Given the description of an element on the screen output the (x, y) to click on. 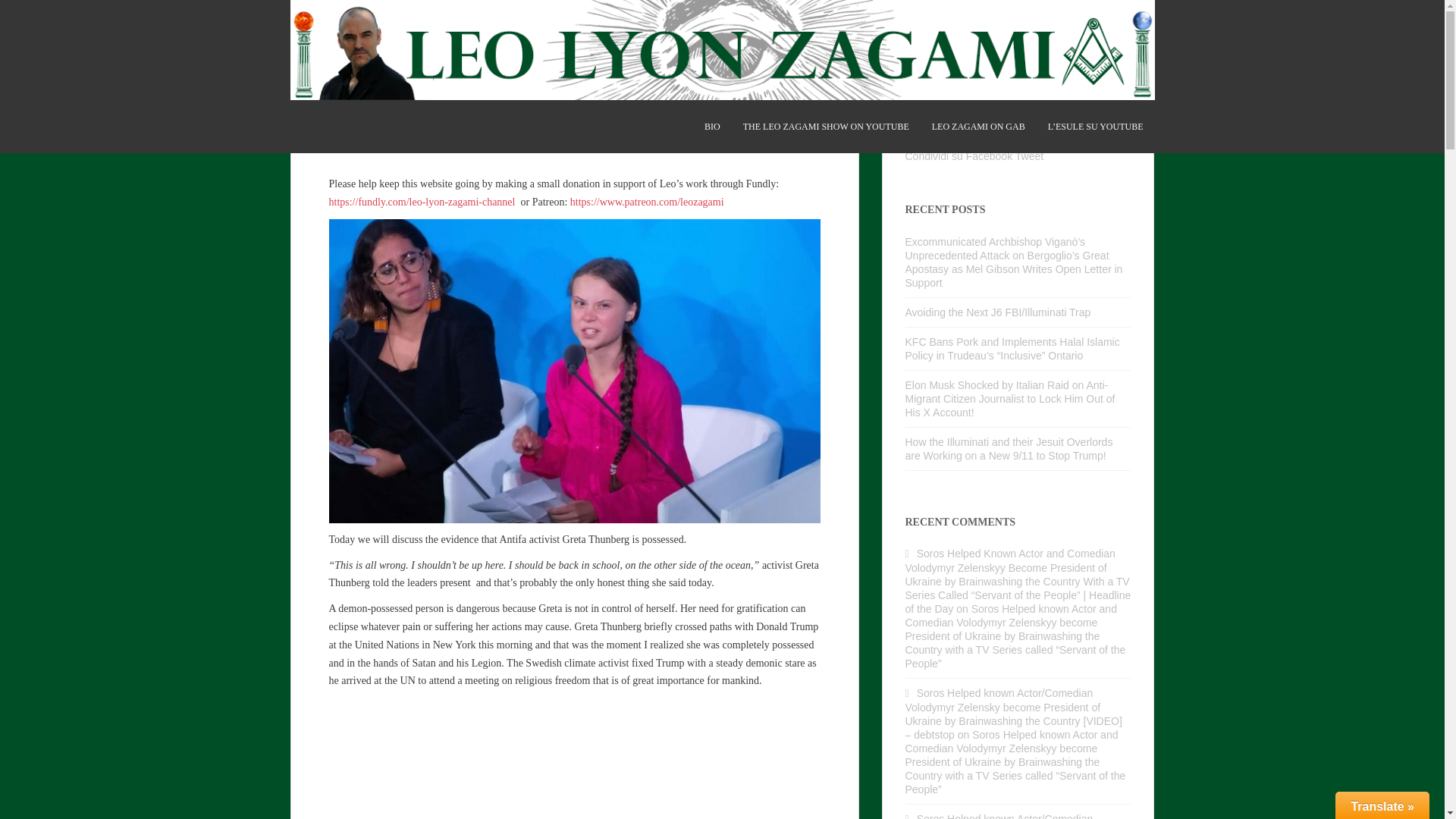
Tweet (1028, 155)
LEO ZAGAMI ON GAB (978, 126)
adm-zagami (467, 143)
Search (1118, 66)
23 September 2019 (379, 143)
Condividi su Facebook (959, 155)
Search for: (1006, 66)
THE LEO ZAGAMI SHOW (825, 126)
THE LEO ZAGAMI SHOW ON YOUTUBE (825, 126)
